Given the description of an element on the screen output the (x, y) to click on. 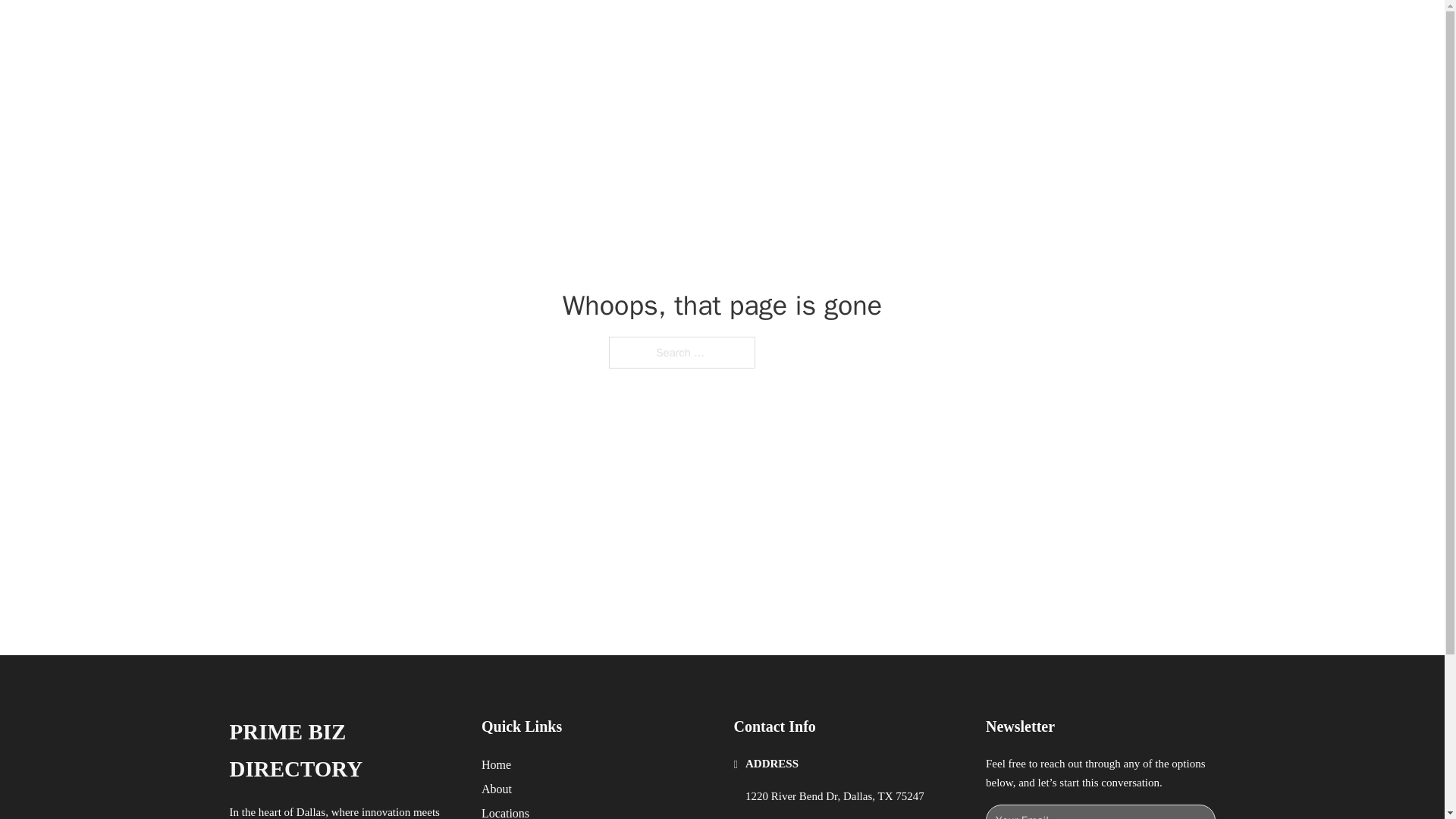
PRIME BIZ DIRECTORY (343, 750)
Locations (505, 811)
LOCATIONS (990, 29)
HOME (919, 29)
PRIME BIZ DIRECTORY (421, 28)
About (496, 788)
Home (496, 764)
